Given the description of an element on the screen output the (x, y) to click on. 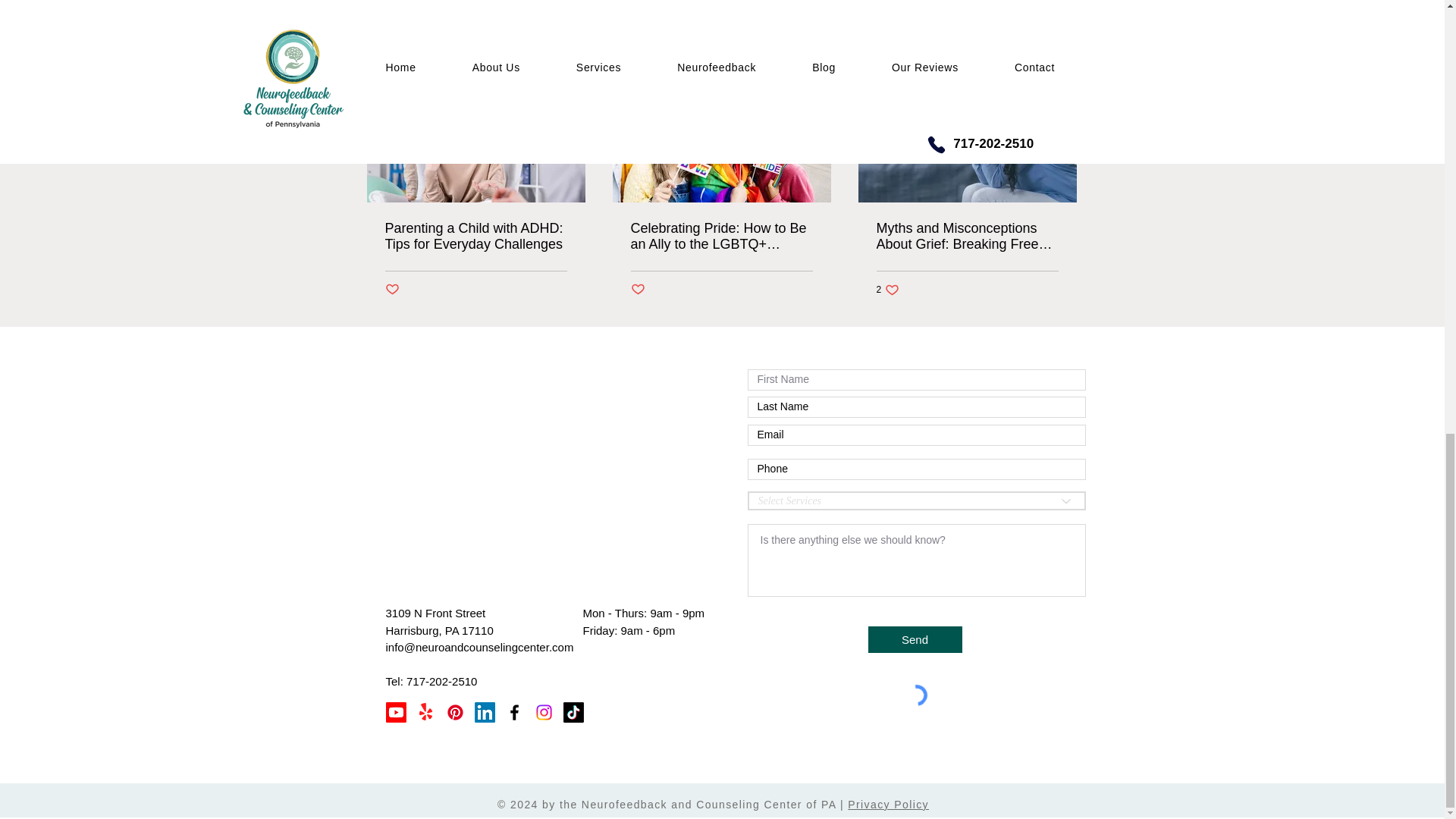
Parenting a Child with ADHD: Tips for Everyday Challenges (476, 236)
Post not marked as liked (637, 289)
See All (1061, 52)
Post not marked as liked (887, 288)
